Given the description of an element on the screen output the (x, y) to click on. 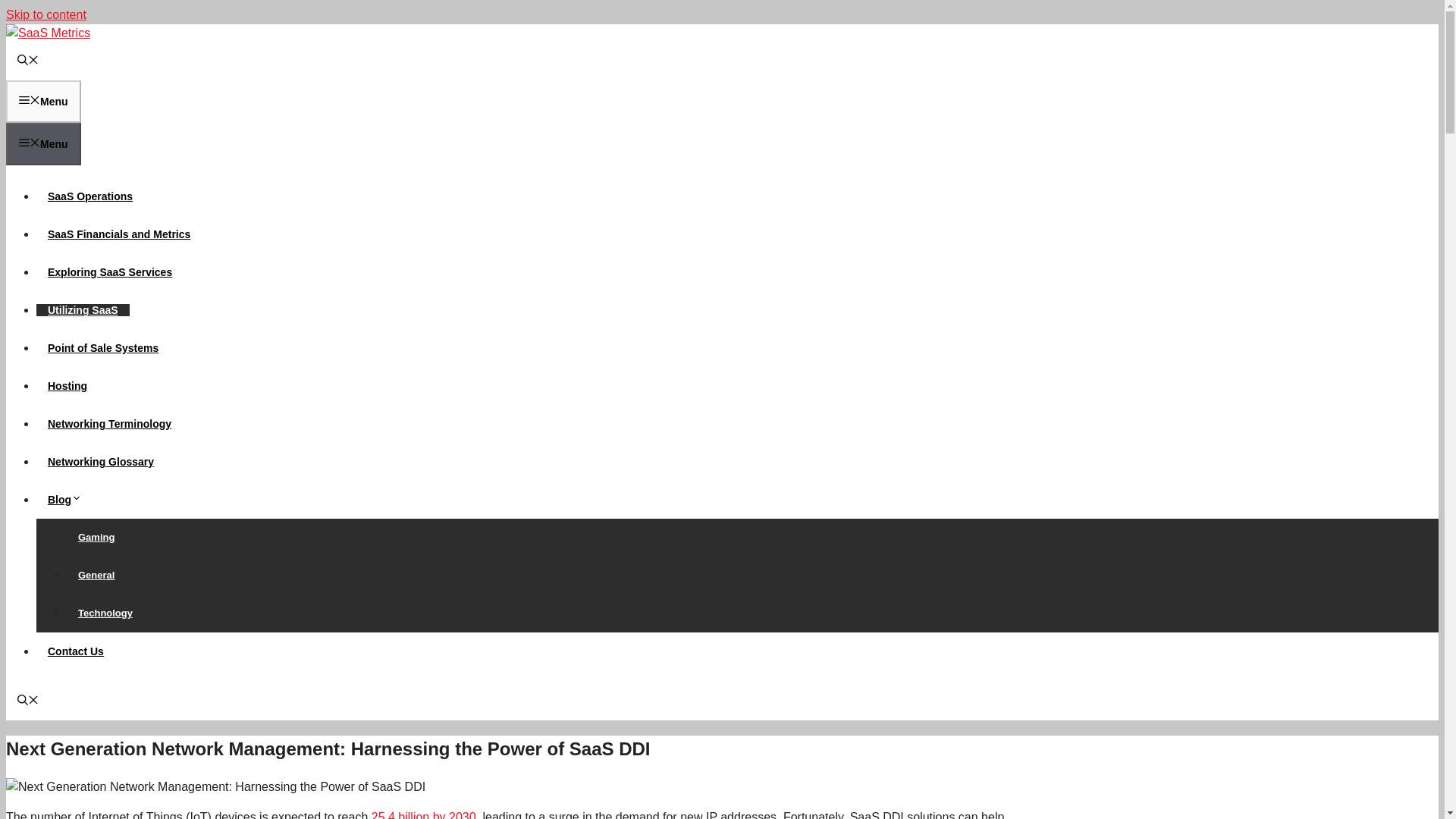
SaaS Operations (90, 196)
General (95, 574)
Exploring SaaS Services (109, 272)
Networking Glossary (100, 461)
Menu (43, 101)
Contact Us (75, 651)
Networking Terminology (109, 423)
Menu (43, 143)
Hosting (67, 386)
25.4 billion by 2030 (423, 814)
